Given the description of an element on the screen output the (x, y) to click on. 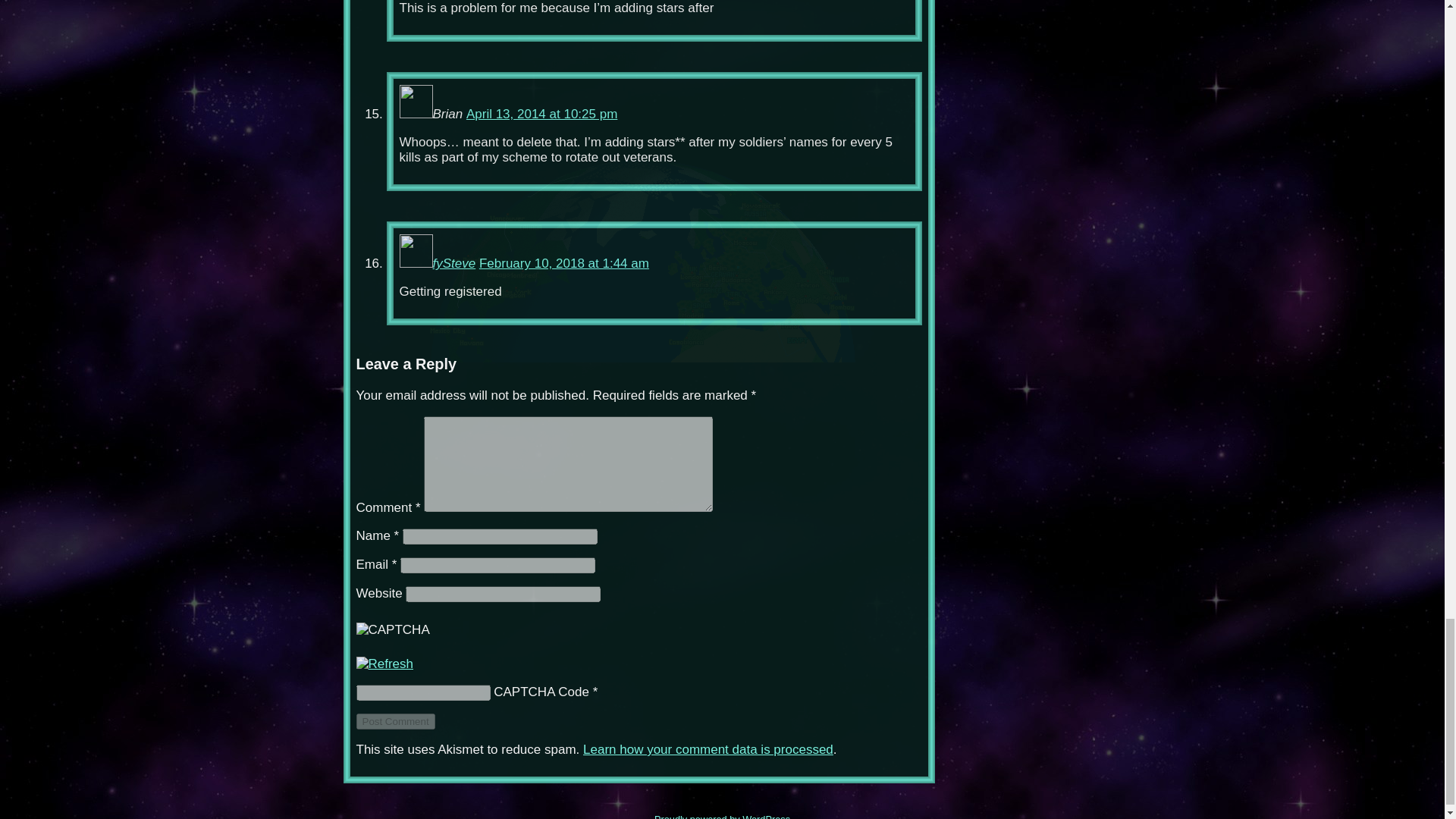
CAPTCHA (408, 639)
Post Comment (395, 721)
February 10, 2018 at 1:44 am (564, 263)
April 13, 2014 at 10:25 pm (541, 114)
Learn how your comment data is processed (707, 749)
Post Comment (395, 721)
Refresh (384, 663)
fySteve (454, 263)
